Given the description of an element on the screen output the (x, y) to click on. 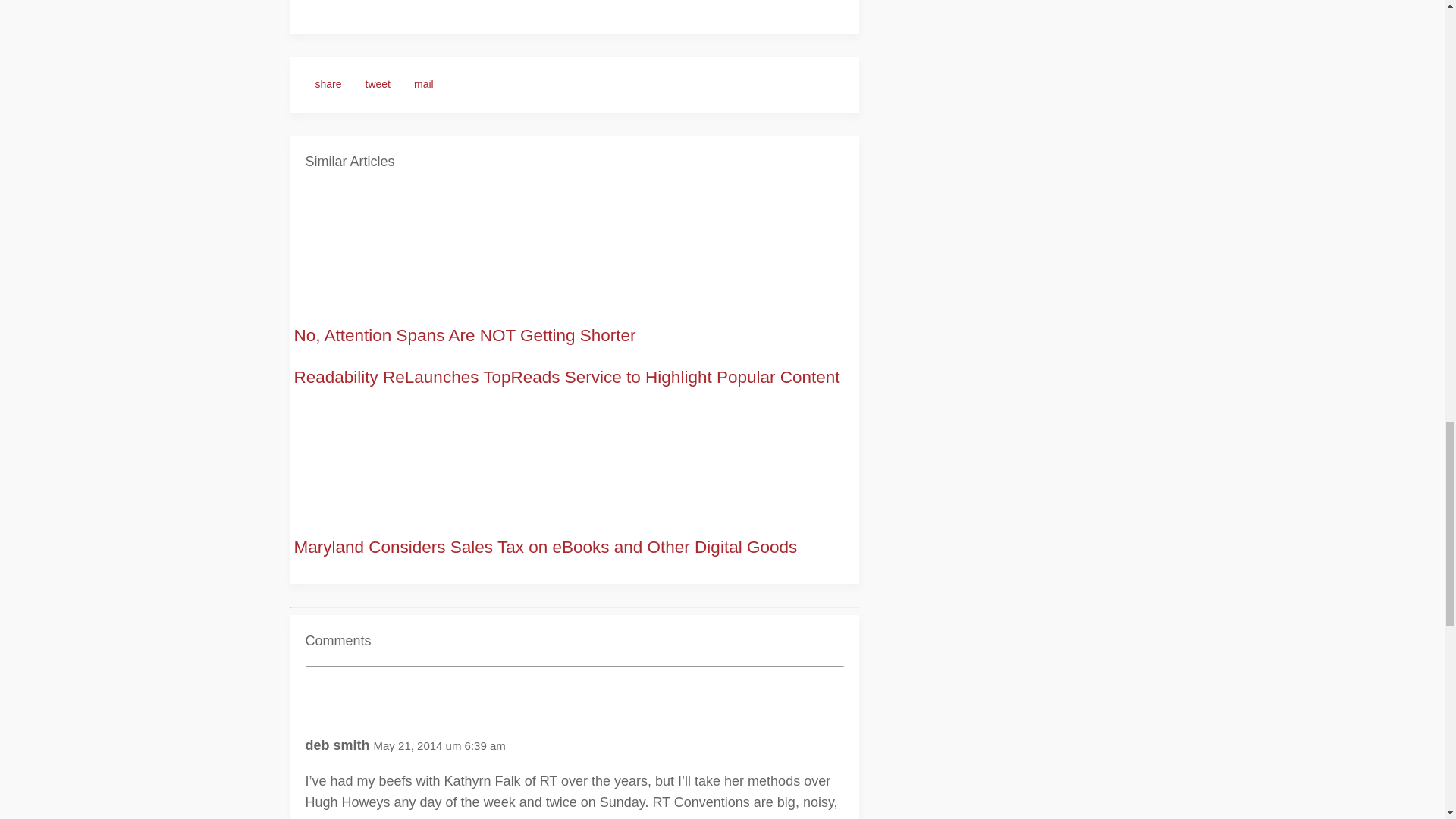
No, Attention Spans Are NOT Getting Shorter (465, 334)
share (327, 84)
No, Attention Spans Are NOT Getting Shorter (465, 334)
mail (424, 84)
tweet (377, 84)
